Given the description of an element on the screen output the (x, y) to click on. 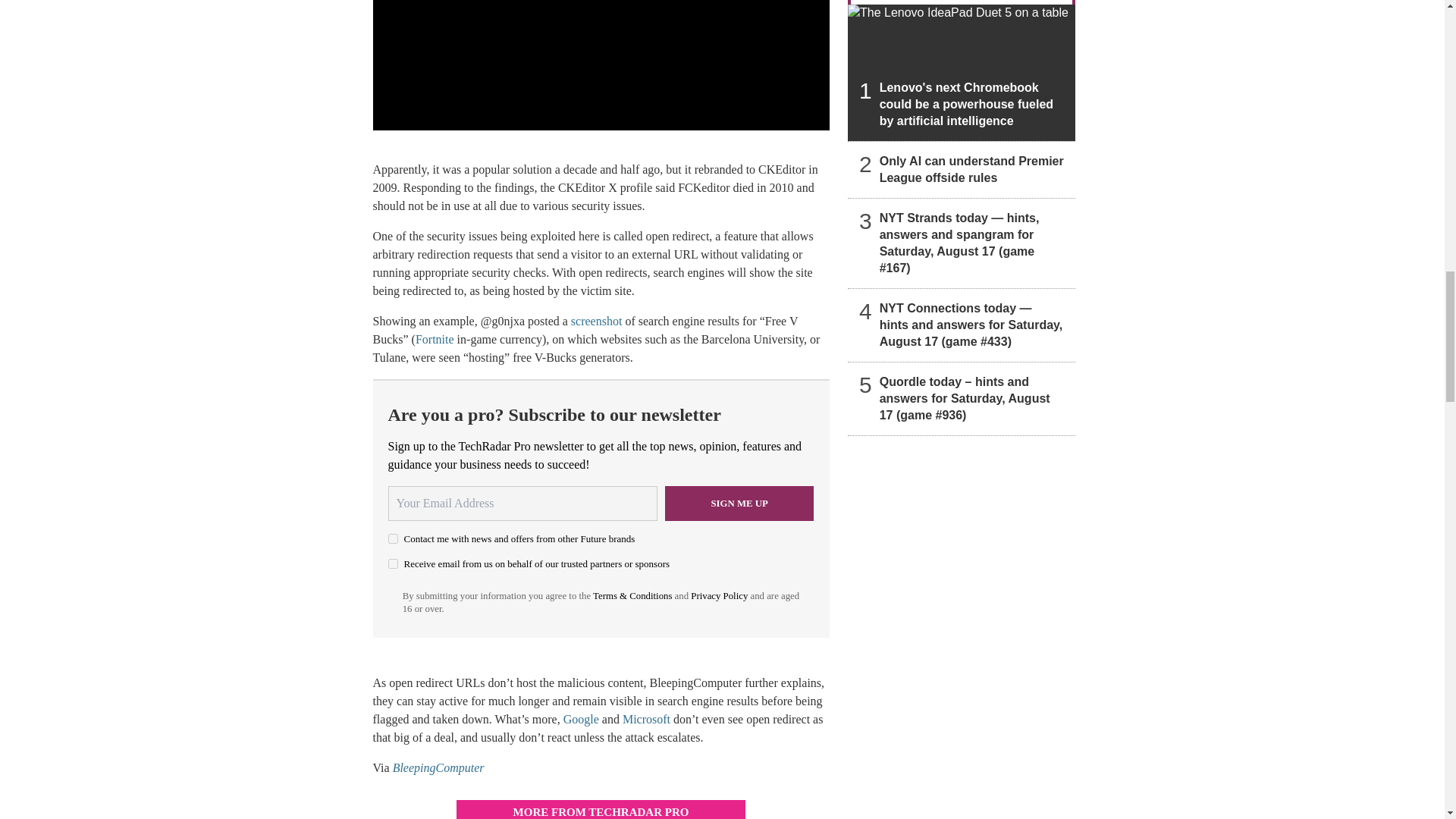
on (392, 538)
Sign me up (739, 503)
on (392, 563)
